Given the description of an element on the screen output the (x, y) to click on. 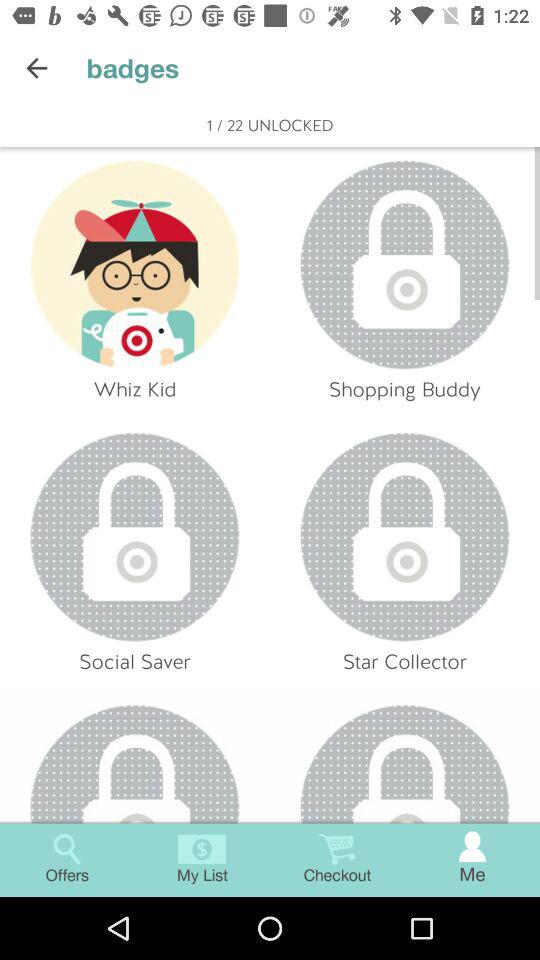
press icon next to badges (36, 67)
